Given the description of an element on the screen output the (x, y) to click on. 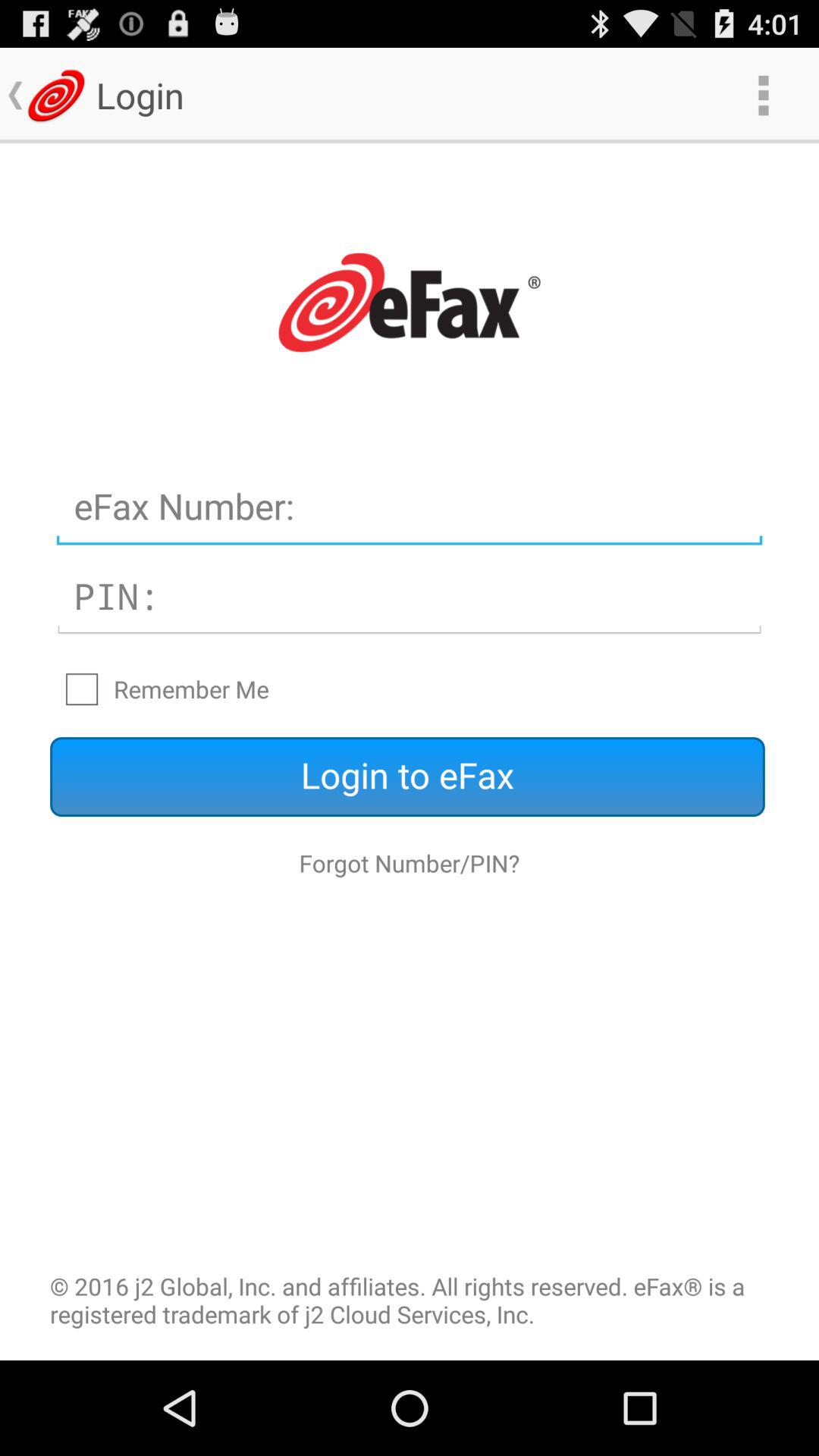
scroll to login to efax icon (407, 776)
